Given the description of an element on the screen output the (x, y) to click on. 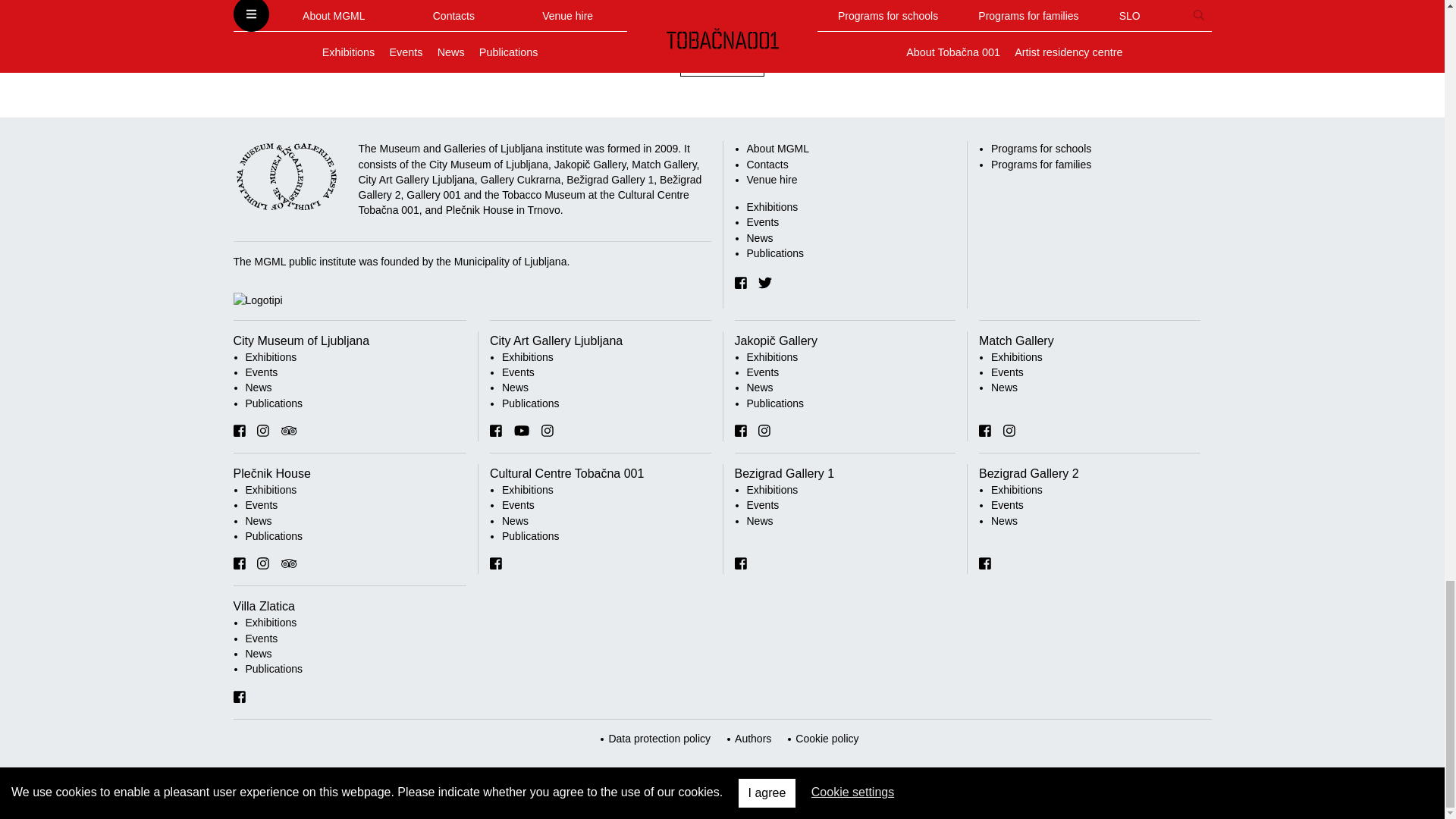
Twitter (764, 282)
TripAdvisor (289, 430)
TripAdvisor (289, 430)
YouTube (521, 430)
YouTube (521, 430)
Twitter (764, 282)
